Given the description of an element on the screen output the (x, y) to click on. 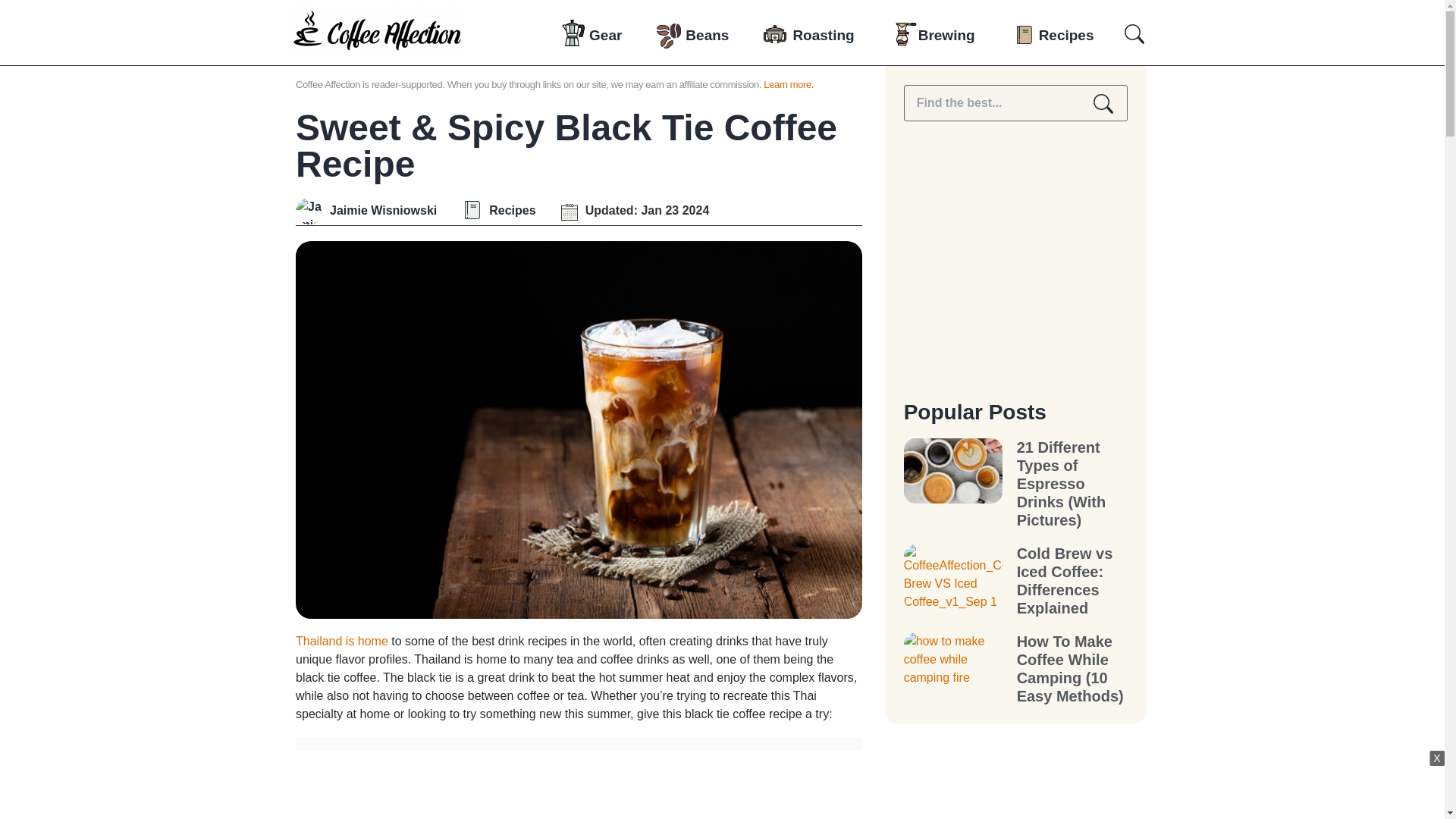
Beans (706, 35)
Gear (605, 35)
Calendar Icon (569, 211)
Roasting (823, 35)
Thailand is home (341, 640)
Recipes (1066, 35)
Brewing (946, 35)
Recipes (512, 210)
Search (1102, 103)
Learn more. (787, 84)
